Given the description of an element on the screen output the (x, y) to click on. 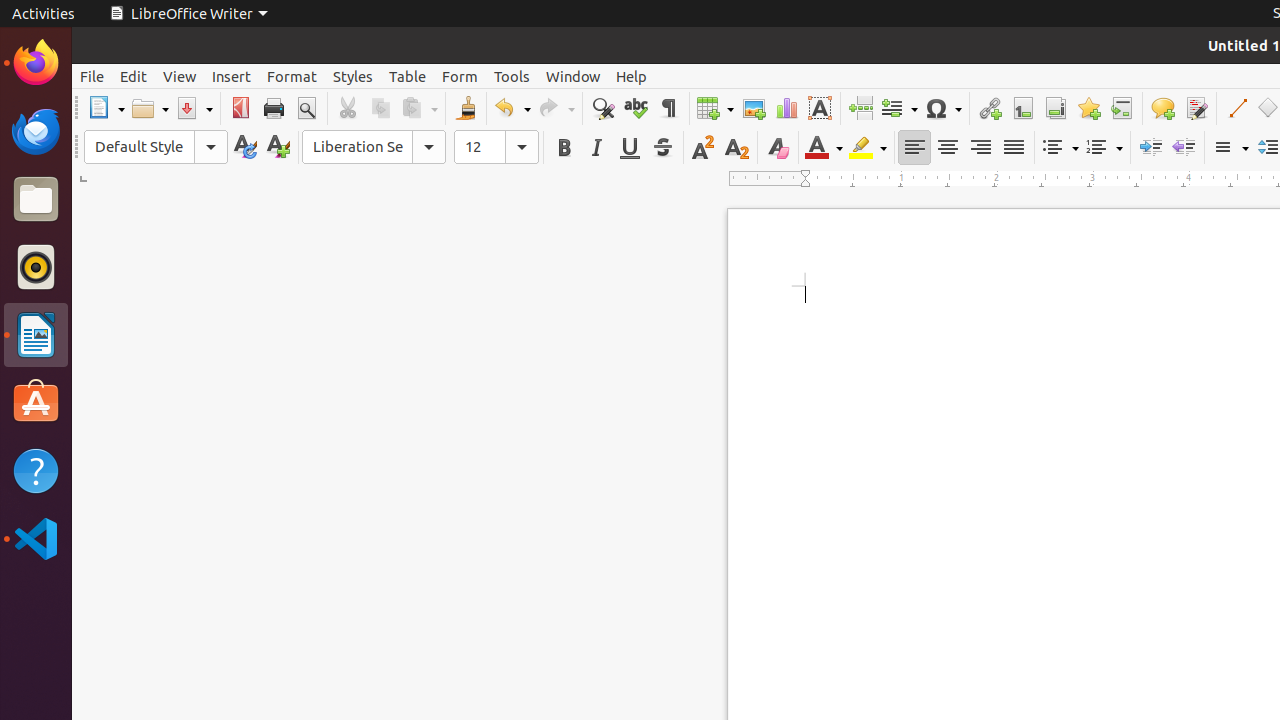
Line Spacing Element type: push-button (1230, 147)
Field Element type: push-button (899, 108)
Undo Element type: push-button (512, 108)
Tools Element type: menu (512, 76)
Line Element type: toggle-button (1236, 108)
